Given the description of an element on the screen output the (x, y) to click on. 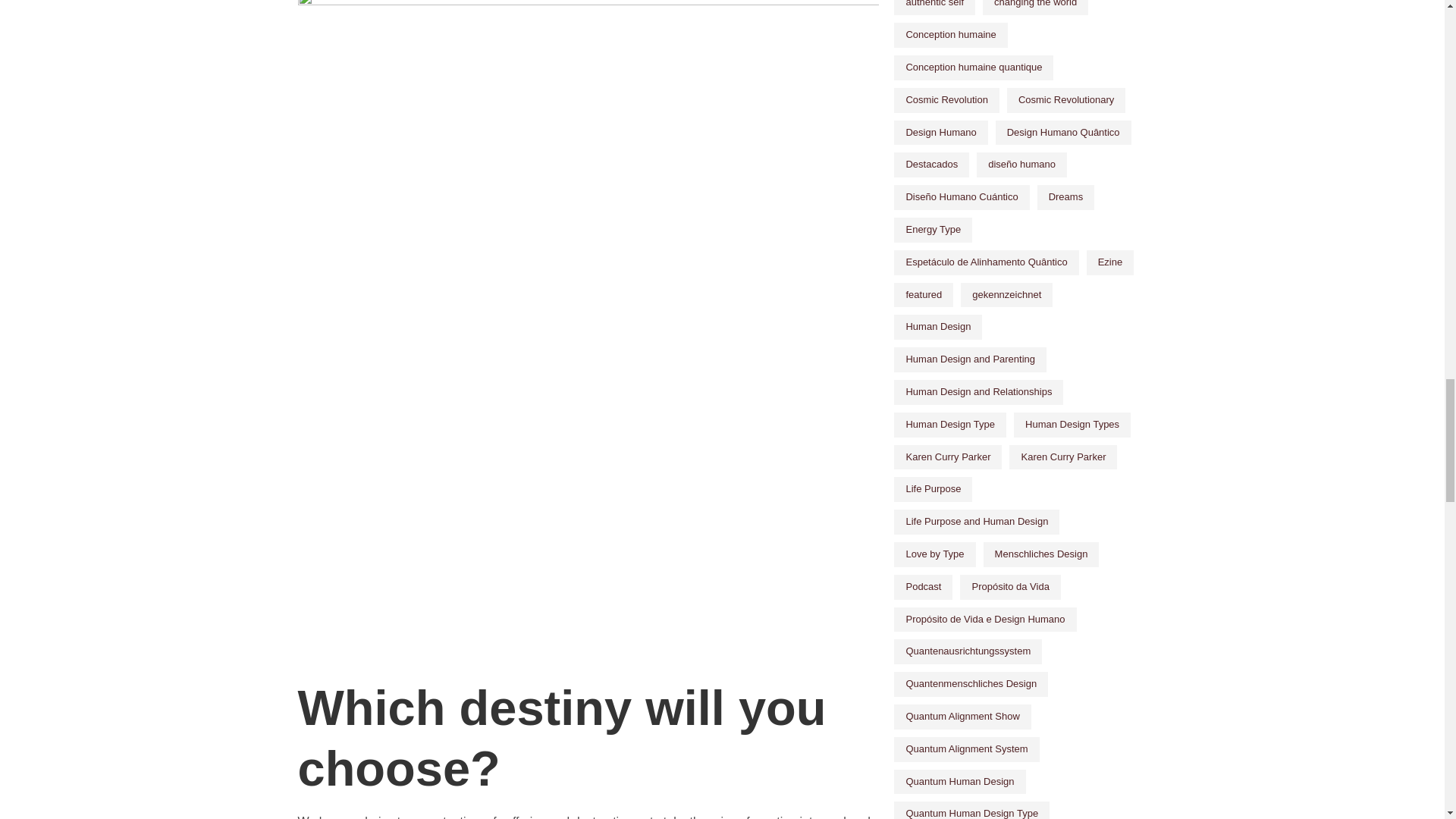
Cosmic Revolution (945, 100)
Libsyn Player (588, 621)
changing the world (1034, 7)
authentic self (934, 7)
Conception humaine (950, 34)
Conception humaine quantique (972, 67)
